Given the description of an element on the screen output the (x, y) to click on. 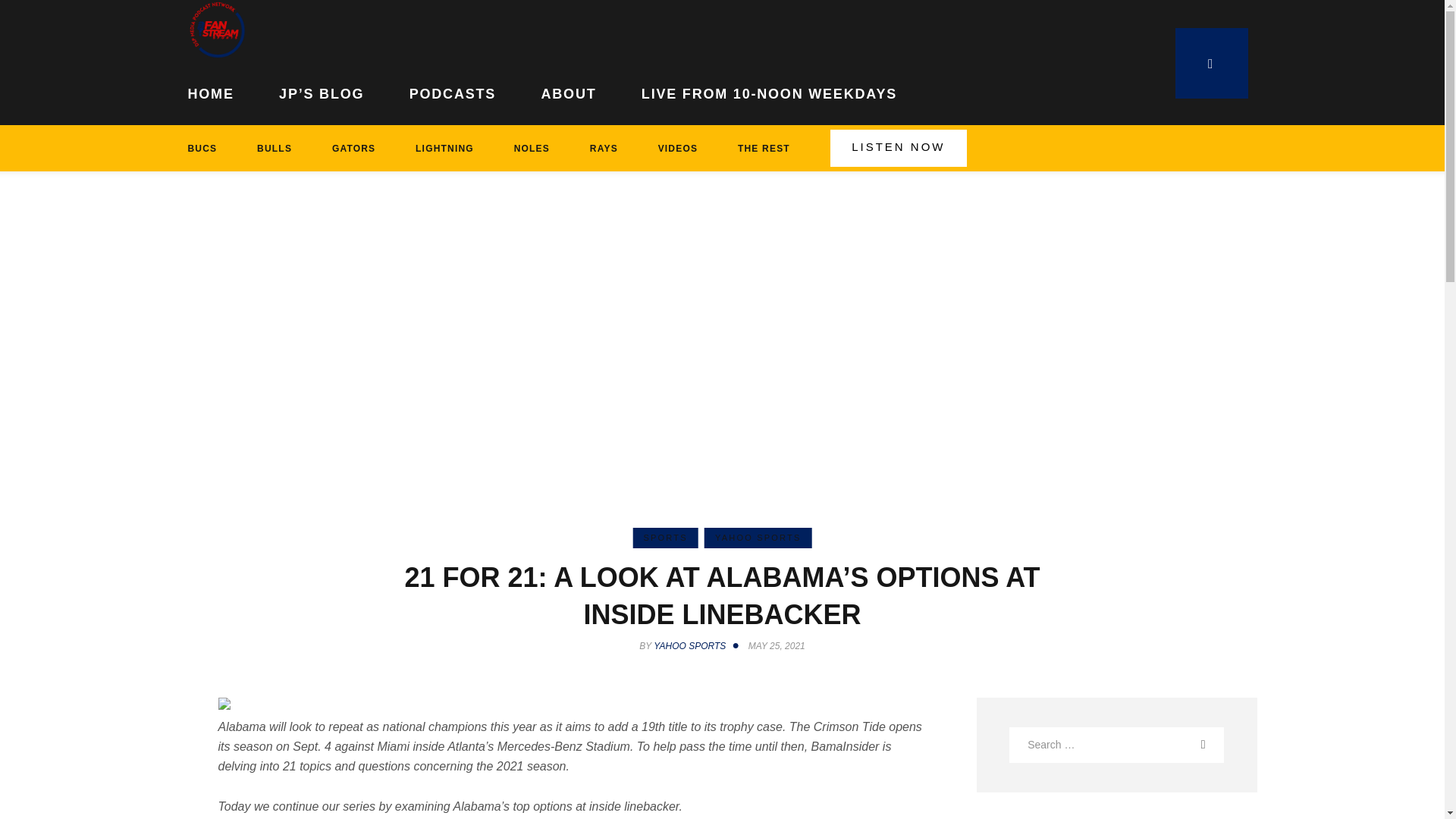
RAYS (603, 147)
ABOUT (568, 91)
GATORS (352, 147)
LIVE FROM 10-NOON WEEKDAYS (769, 91)
PODCASTS (452, 91)
NOLES (531, 147)
Search (1213, 744)
THE REST (763, 147)
LISTEN NOW (897, 148)
BUCS (212, 147)
YAHOO SPORTS (757, 537)
SPORTS (664, 537)
HOME (222, 91)
BY YAHOO SPORTS (692, 645)
Search (1213, 744)
